Given the description of an element on the screen output the (x, y) to click on. 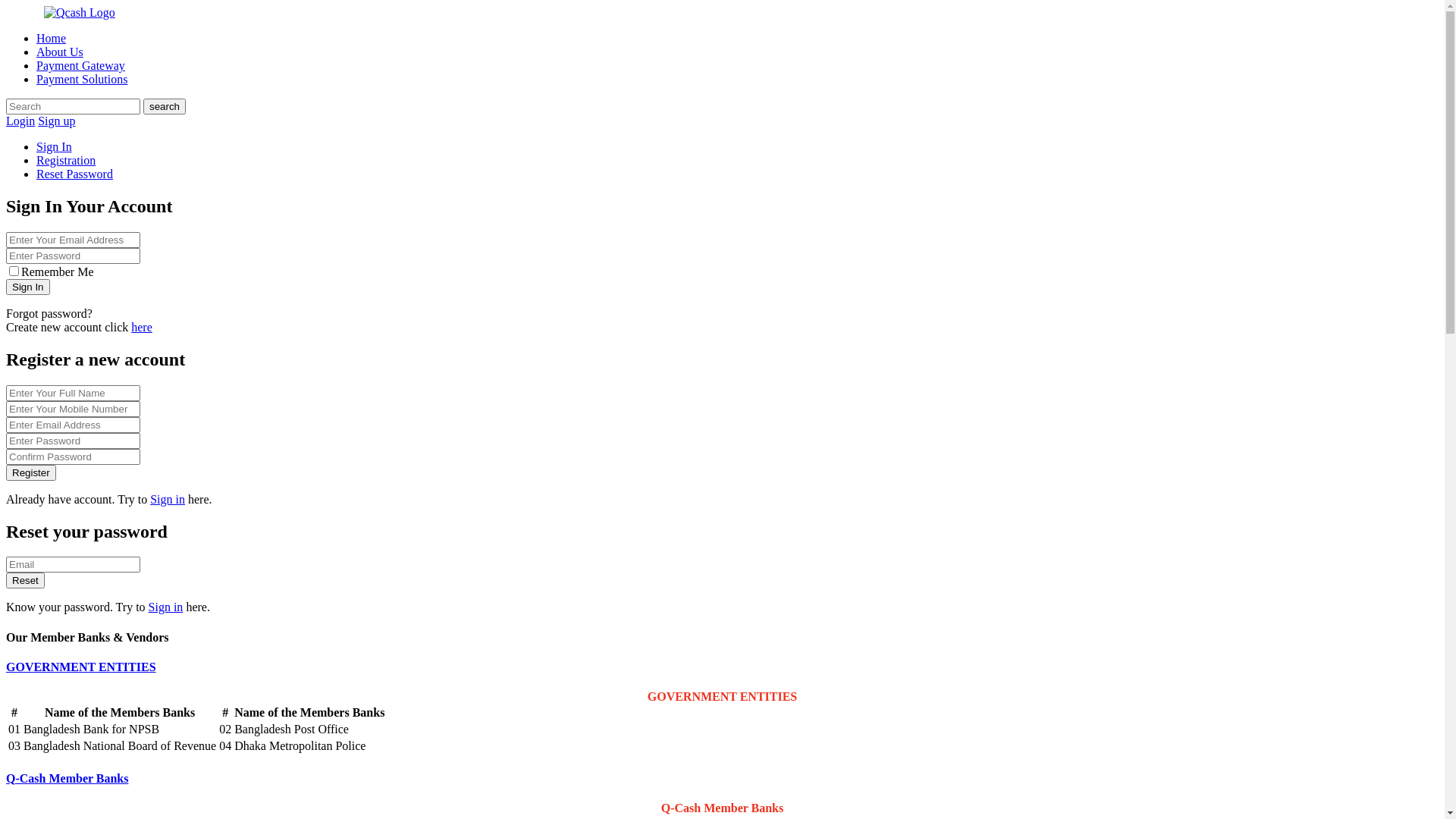
Reset Password Element type: text (74, 173)
Sign up Element type: text (56, 120)
Home Element type: text (50, 37)
Reset Element type: text (25, 580)
Registration Element type: text (65, 159)
Sign in Element type: text (165, 606)
here Element type: text (141, 326)
Sign In Element type: text (28, 286)
Login Element type: text (20, 120)
Q-Cash Member Banks Element type: text (67, 777)
Sign In Element type: text (54, 146)
GOVERNMENT ENTITIES Element type: text (81, 666)
Register Element type: text (31, 472)
About Us Element type: text (59, 51)
Sign in Element type: text (167, 498)
Payment Solutions Element type: text (81, 78)
Payment Gateway Element type: text (80, 65)
